Given the description of an element on the screen output the (x, y) to click on. 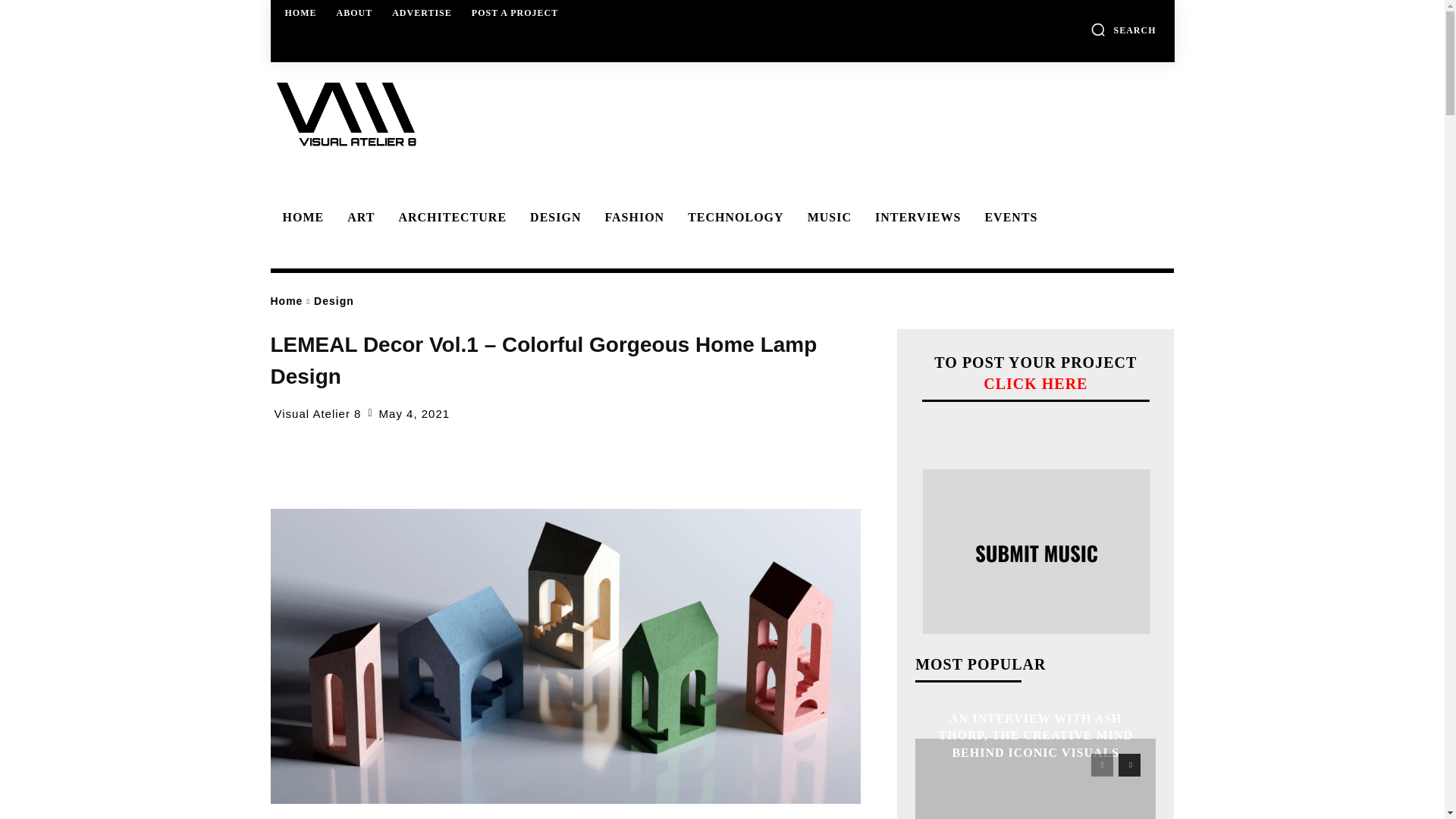
POST A PROJECT (515, 12)
View all posts in Design (333, 300)
FASHION (631, 217)
TECHNOLOGY (732, 217)
INTERVIEWS (915, 217)
ADVERTISE (422, 12)
EVENTS (1008, 217)
HOME (301, 12)
ART (357, 217)
MUSIC (826, 217)
